Given the description of an element on the screen output the (x, y) to click on. 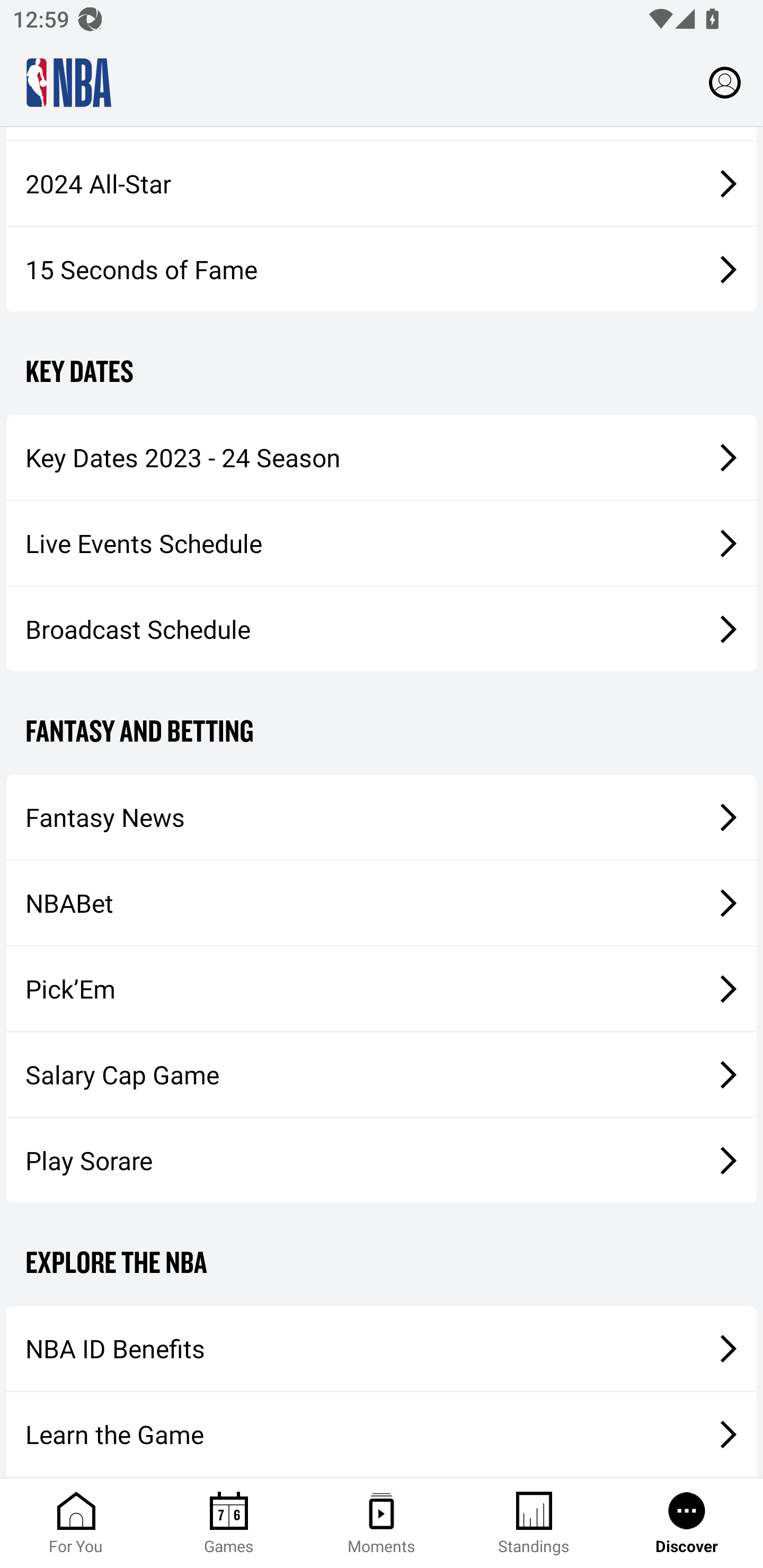
Profile (724, 81)
2024 All-Star (381, 183)
15 Seconds of Fame (381, 269)
Key Dates 2023 - 24 Season (381, 457)
Live Events Schedule (381, 542)
Broadcast Schedule (381, 628)
Fantasy News (381, 816)
NBABet (381, 902)
Pick’Em (381, 988)
Salary Cap Game (381, 1073)
Play Sorare (381, 1159)
NBA ID Benefits (381, 1348)
Learn the Game (381, 1434)
For You (76, 1523)
Games (228, 1523)
Moments (381, 1523)
Standings (533, 1523)
